Given the description of an element on the screen output the (x, y) to click on. 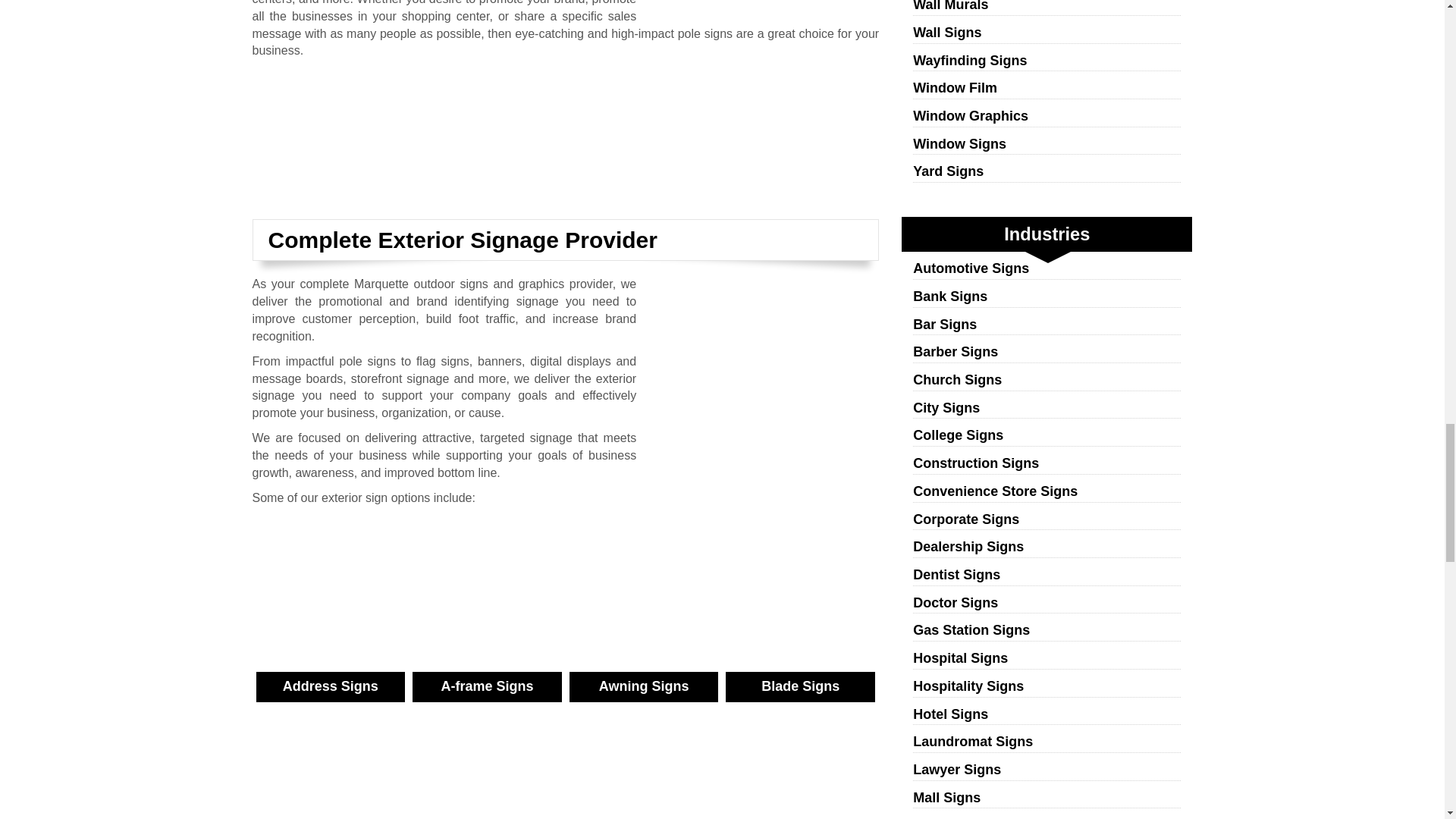
Awning Signs (644, 726)
Address Signs (331, 726)
A-frame Signs (487, 726)
